Given the description of an element on the screen output the (x, y) to click on. 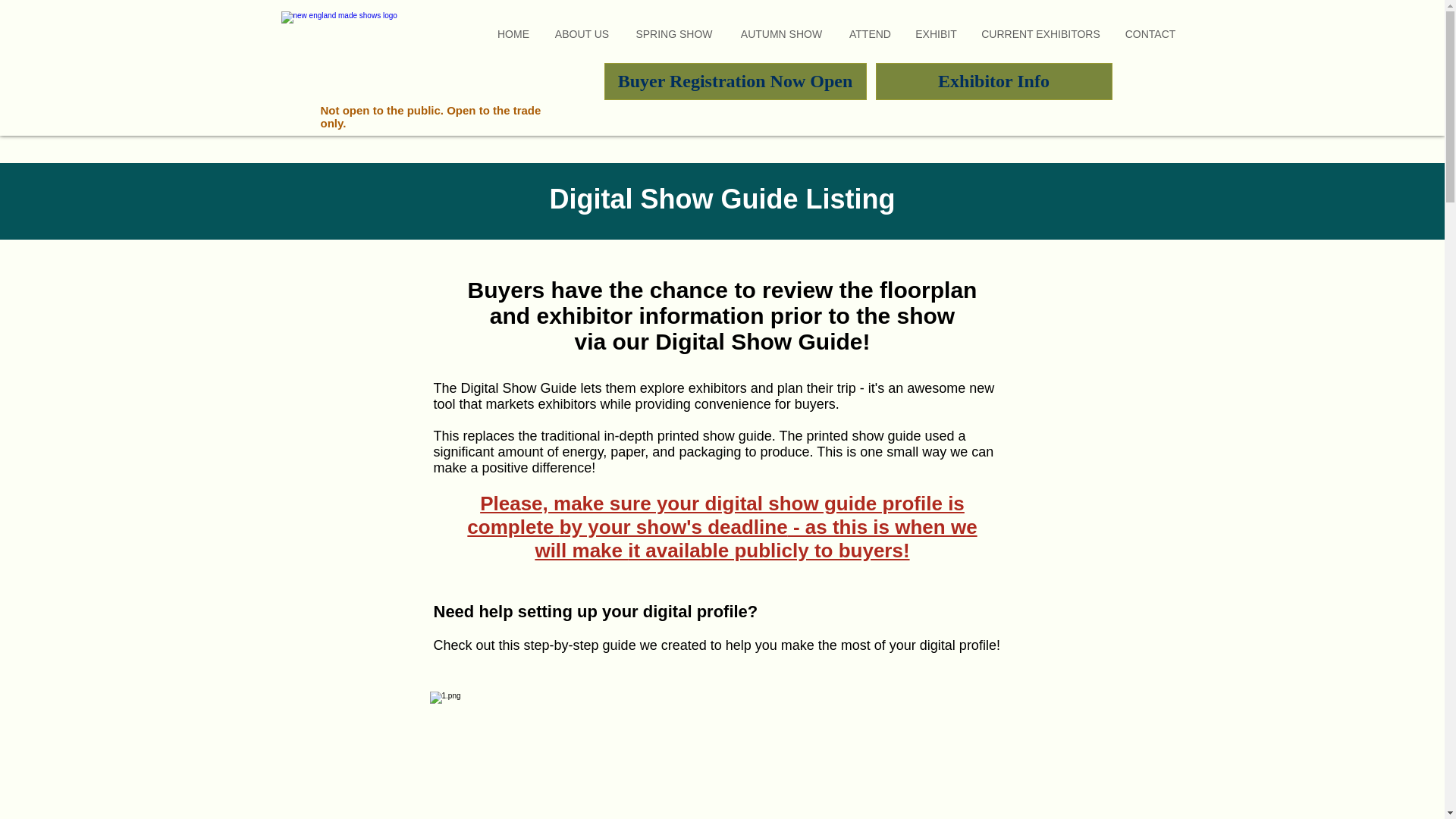
Buyer Registration Now Open (735, 81)
HOME (512, 32)
Exhibitor Info (993, 81)
Digital Show Guide Listing (721, 198)
CONTACT (1150, 32)
